Given the description of an element on the screen output the (x, y) to click on. 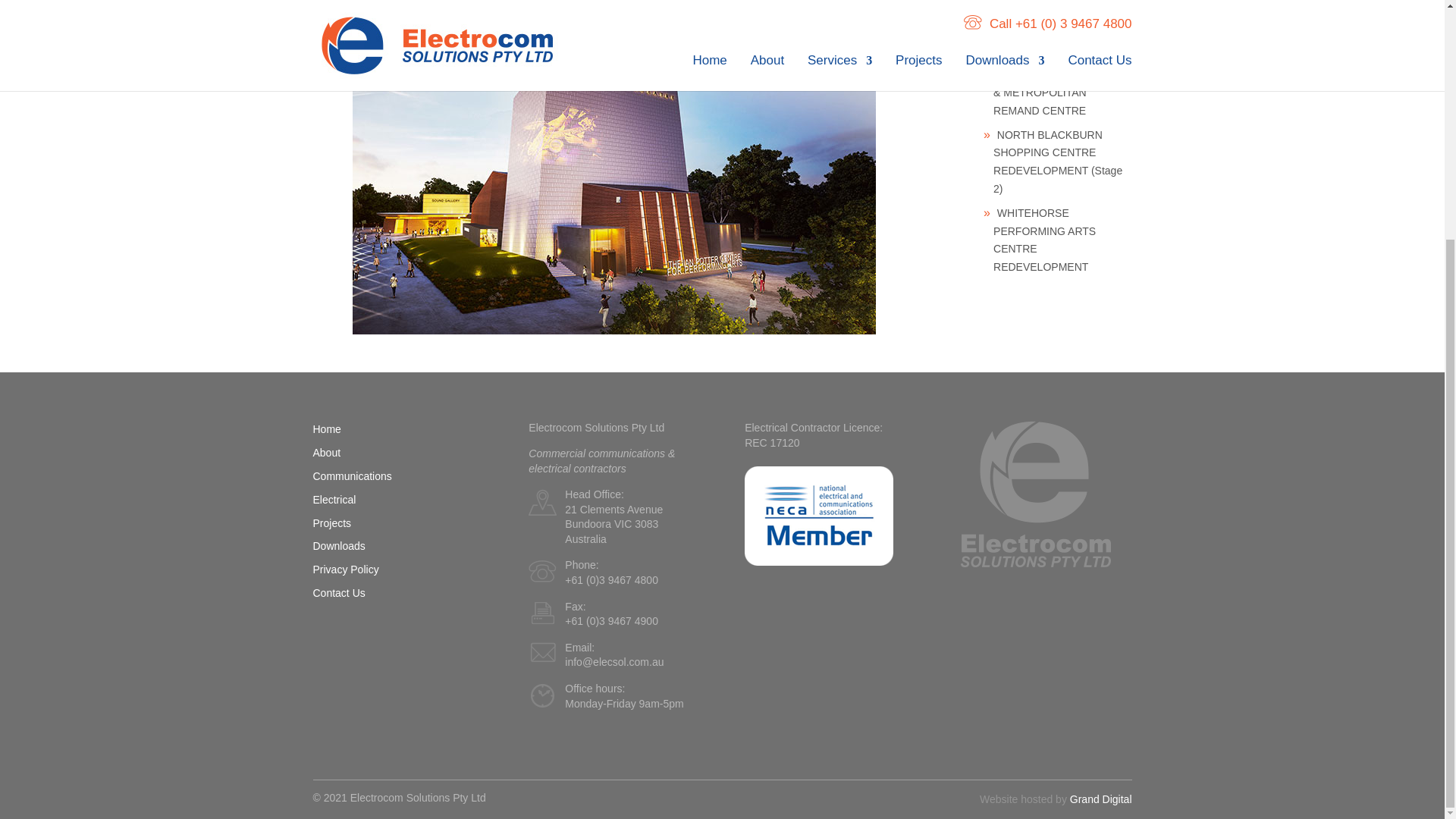
WHITEHORSE PERFORMING ARTS CENTRE REDEVELOPMENT (1044, 239)
5 BOND STREET (1039, 8)
299 BOURKE (1029, 32)
Projects (331, 522)
Downloads (339, 545)
Privacy Policy (345, 569)
About (326, 452)
Contact Us (339, 592)
Home (326, 428)
Electrical (334, 499)
